Given the description of an element on the screen output the (x, y) to click on. 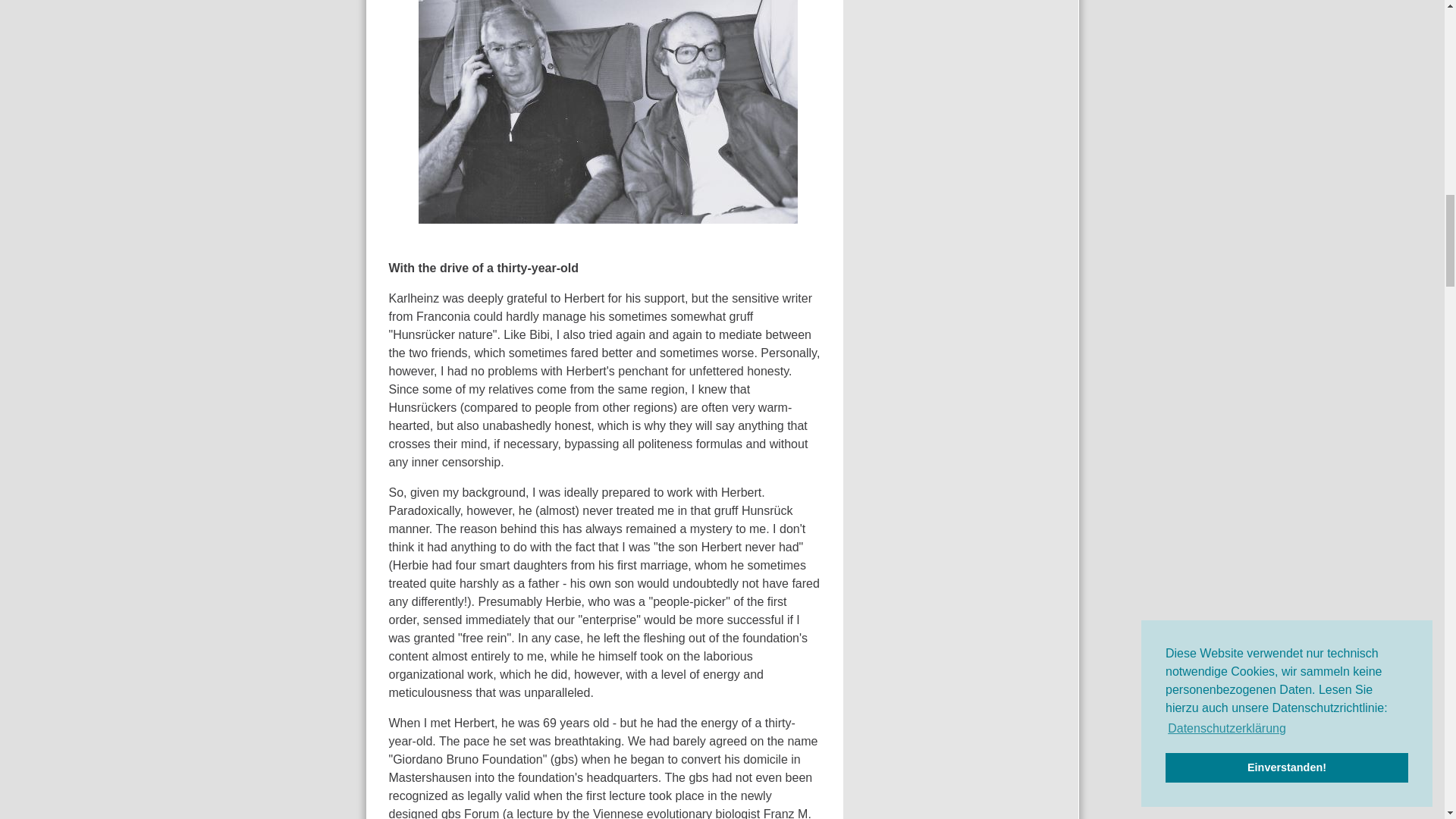
Zugreise mit Karlheinz Deschner (608, 111)
